Given the description of an element on the screen output the (x, y) to click on. 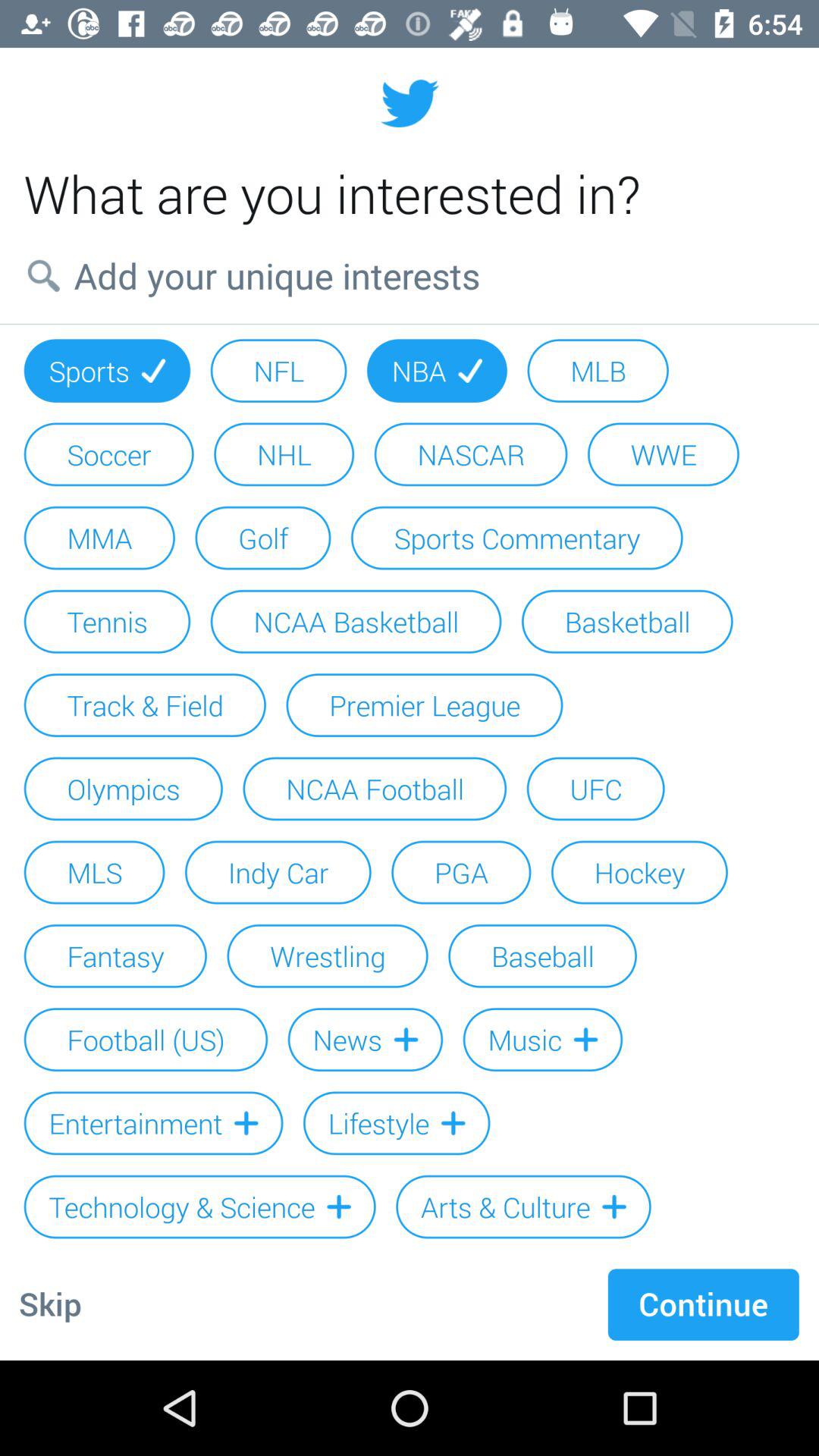
launch the item below nba item (470, 454)
